Given the description of an element on the screen output the (x, y) to click on. 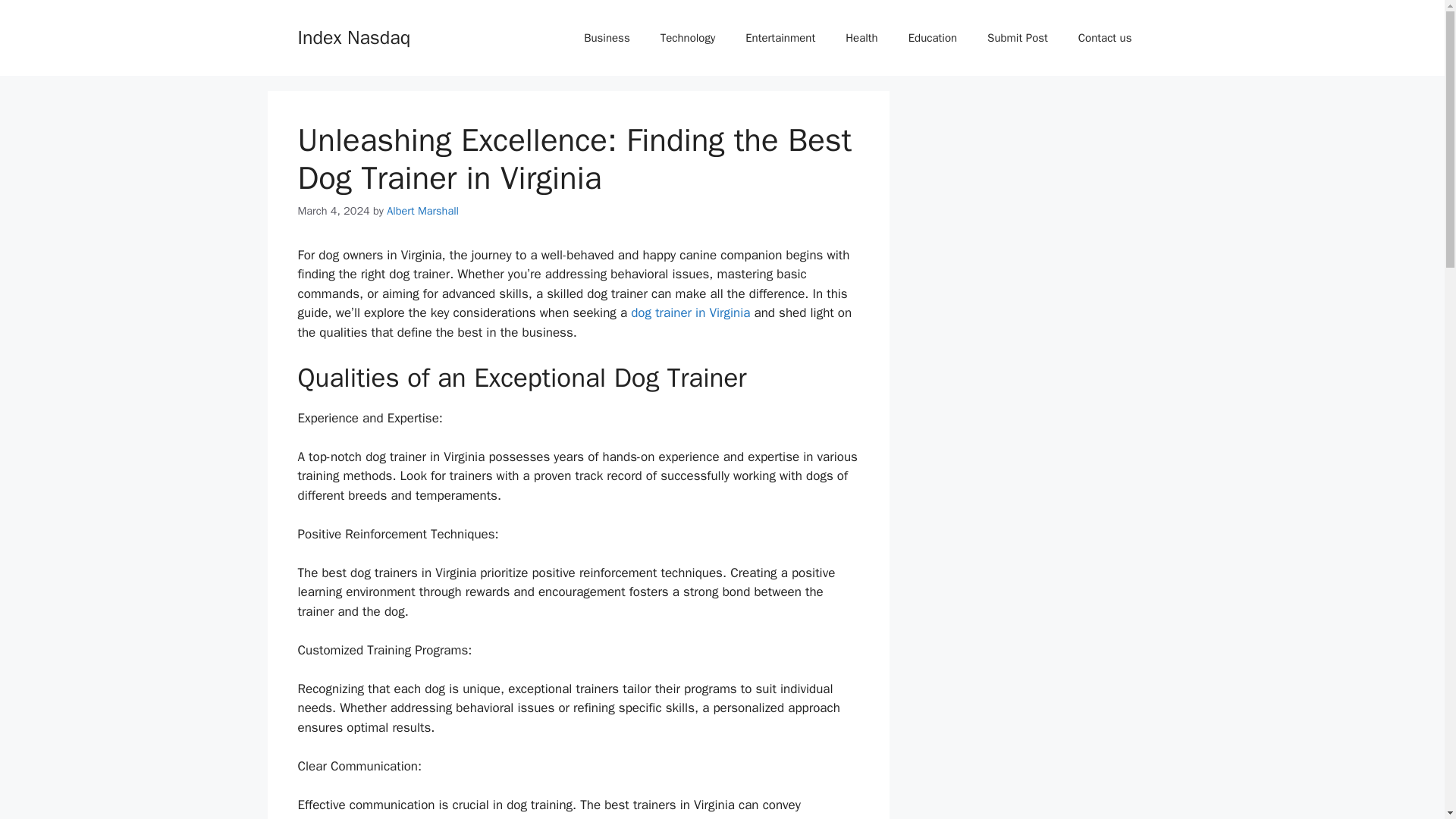
Index Nasdaq (353, 37)
dog trainer in Virginia (690, 312)
Albert Marshall (422, 210)
Technology (687, 37)
Education (932, 37)
Health (861, 37)
Submit Post (1017, 37)
Business (607, 37)
Contact us (1104, 37)
View all posts by Albert Marshall (422, 210)
